Given the description of an element on the screen output the (x, y) to click on. 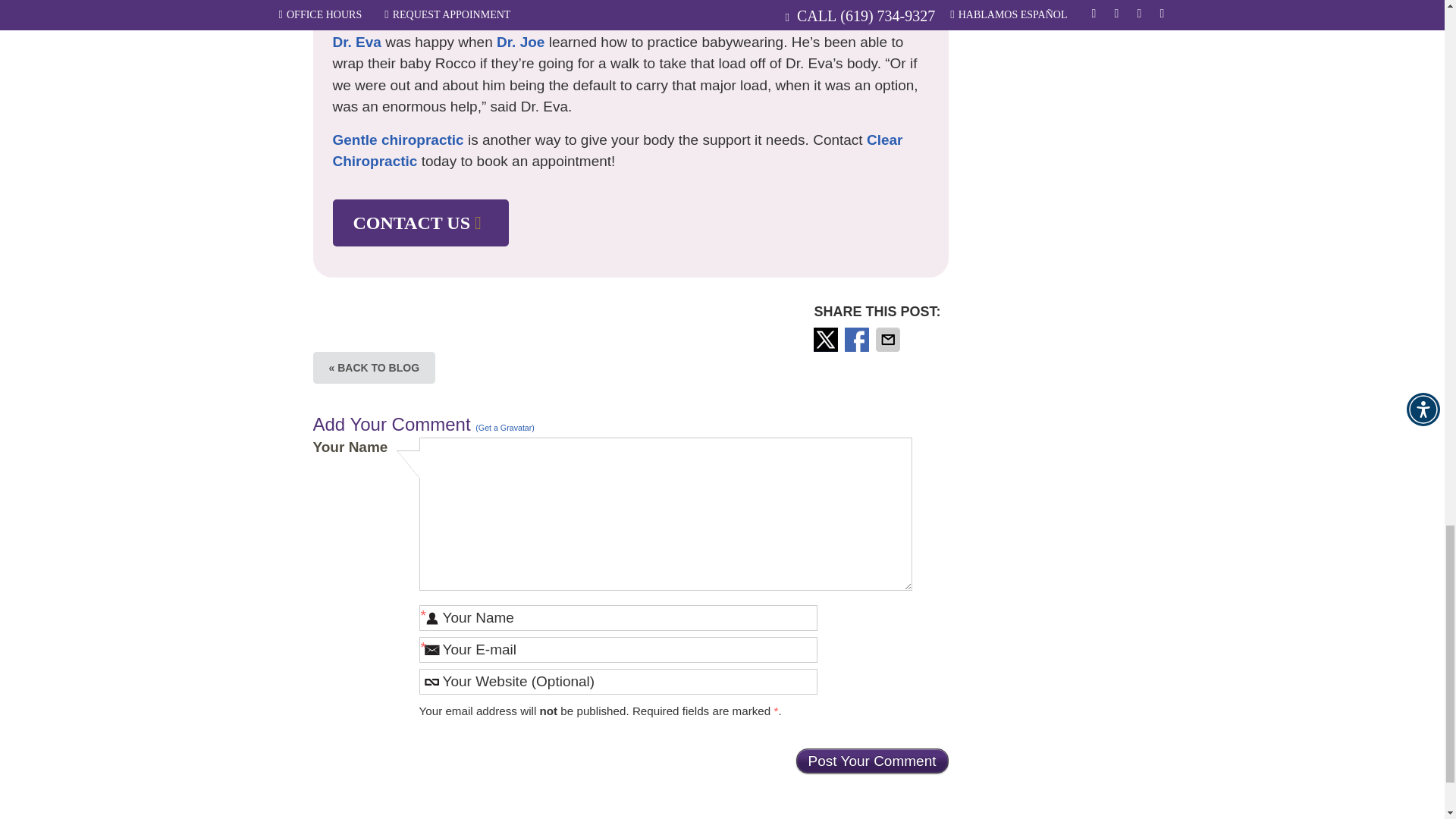
Your E-mail (617, 649)
Dr. Eva (355, 41)
Post Your Comment (872, 760)
Your Name (617, 617)
Gentle chiropractic (397, 139)
Your E-mail (617, 649)
Your Name (617, 617)
Dr. Joe (520, 41)
Share on Twitter (827, 339)
CONTACT US (419, 223)
Clear Chiropractic (616, 150)
